Given the description of an element on the screen output the (x, y) to click on. 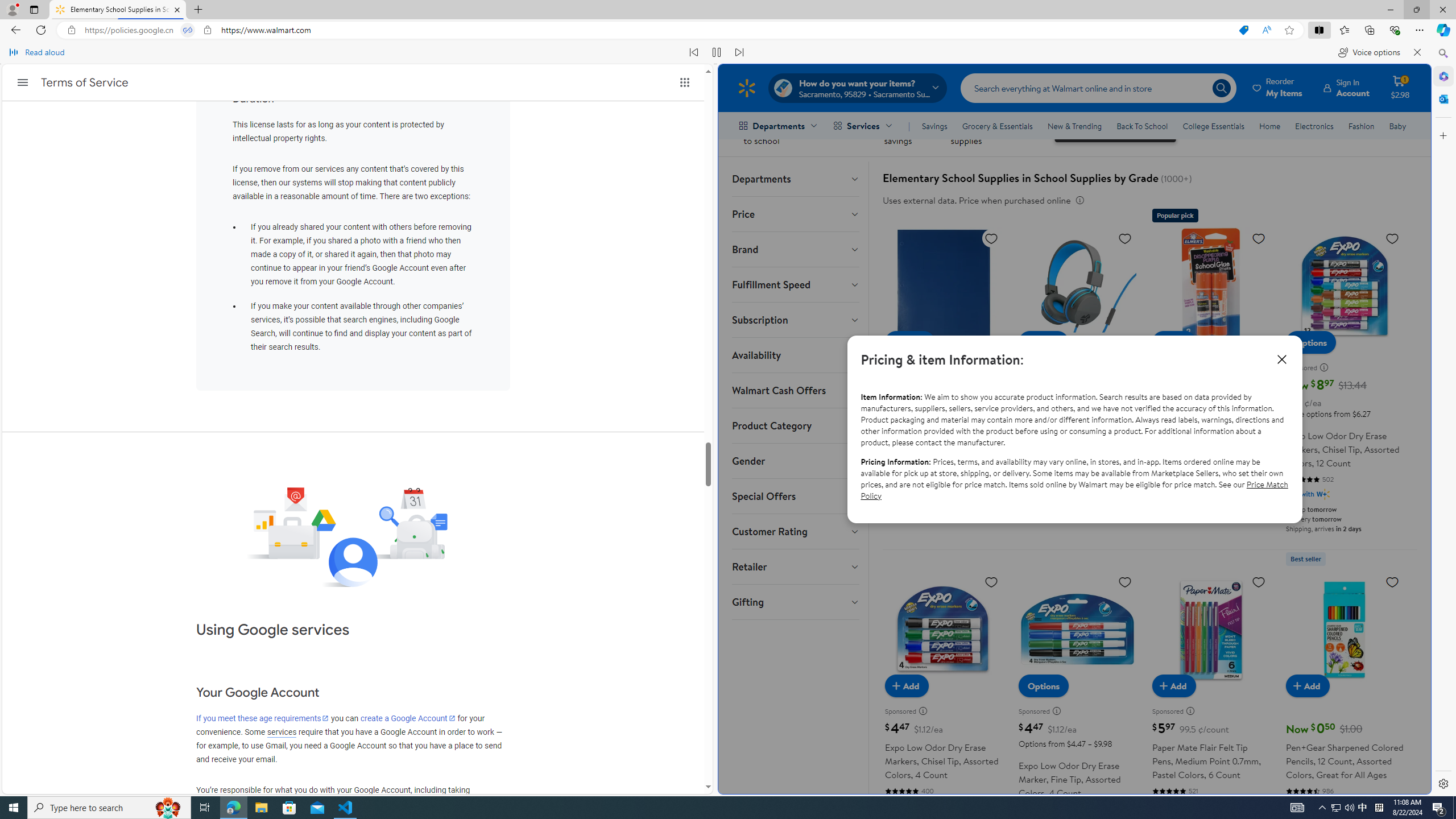
Voice options (1369, 52)
Close Search pane (1442, 53)
Close dialog (1280, 359)
Read previous paragraph (693, 52)
